Given the description of an element on the screen output the (x, y) to click on. 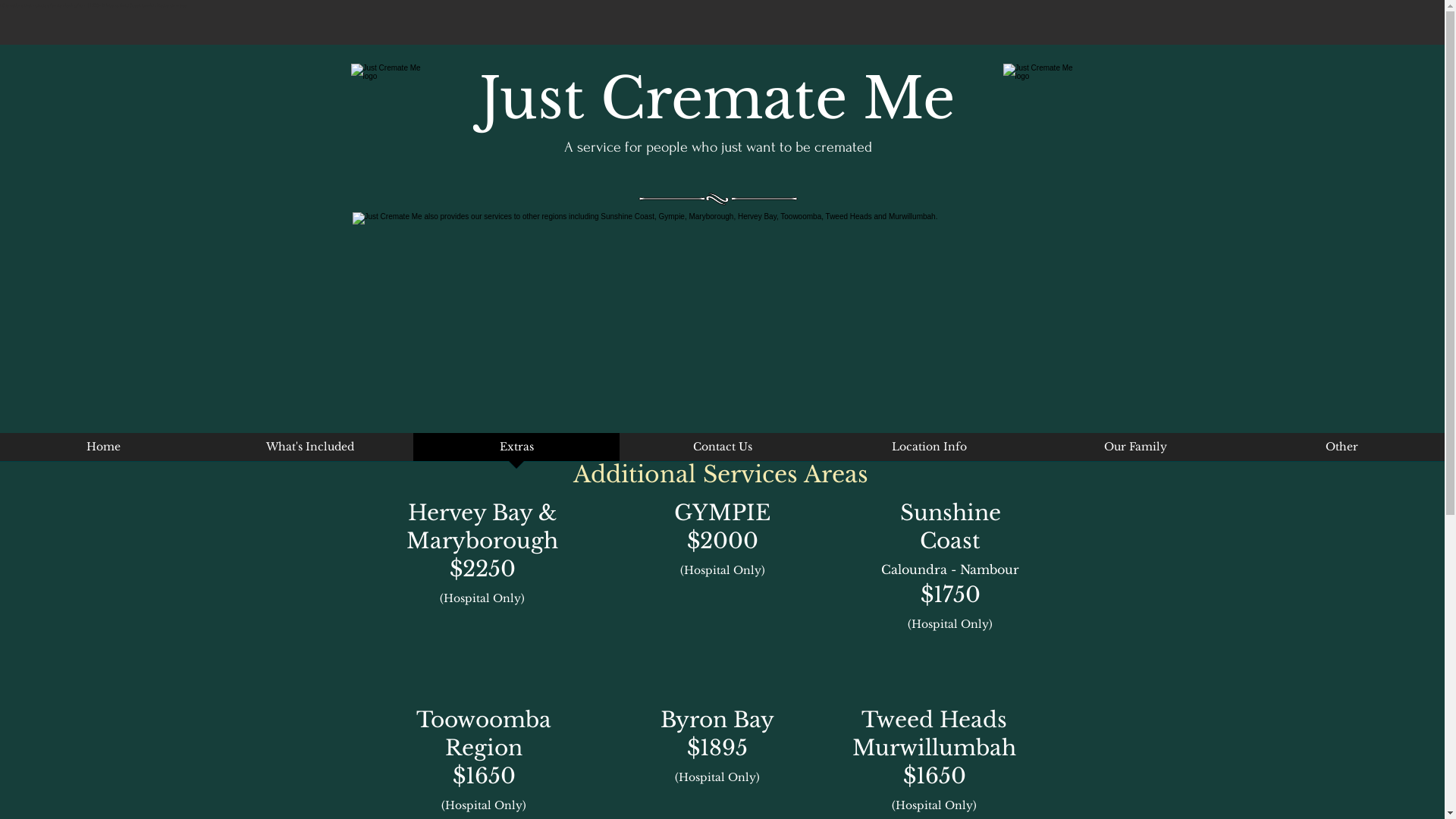
Contact Us Element type: text (722, 451)
Our Family Element type: text (1135, 451)
Extras Element type: text (516, 451)
What's Included Element type: text (310, 451)
Home Element type: text (103, 451)
